Given the description of an element on the screen output the (x, y) to click on. 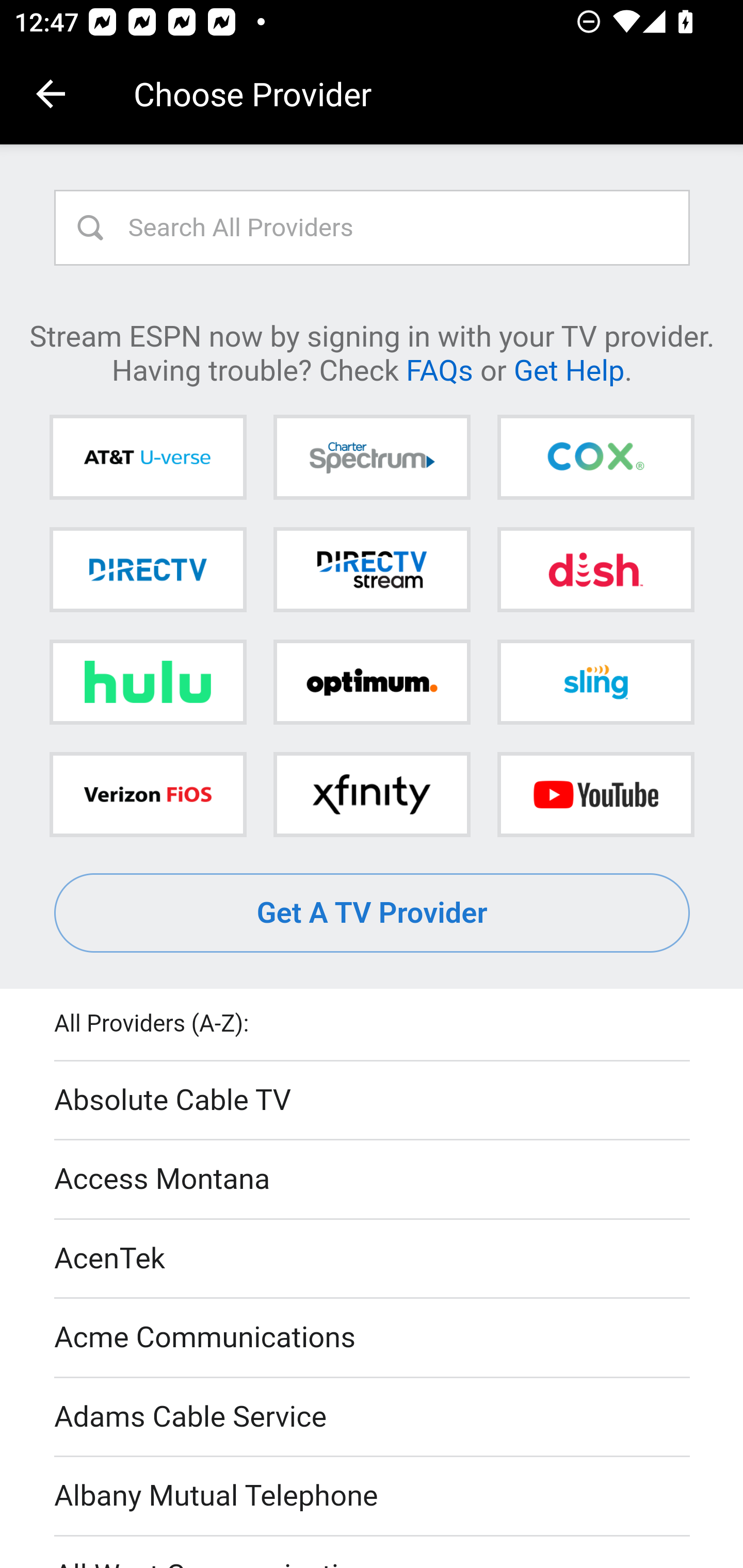
Navigate up (50, 93)
FAQs (438, 369)
Get Help (569, 369)
AT&T U-verse (147, 457)
Charter Spectrum (371, 457)
Cox (595, 457)
DIRECTV (147, 568)
DIRECTV STREAM (371, 568)
DISH (595, 568)
Hulu (147, 681)
Optimum (371, 681)
Sling TV (595, 681)
Verizon FiOS (147, 793)
Xfinity (371, 793)
YouTube TV (595, 793)
Get A TV Provider (372, 912)
Absolute Cable TV (372, 1100)
Access Montana (372, 1178)
AcenTek (372, 1258)
Acme Communications (372, 1338)
Adams Cable Service (372, 1417)
Albany Mutual Telephone (372, 1497)
